Given the description of an element on the screen output the (x, y) to click on. 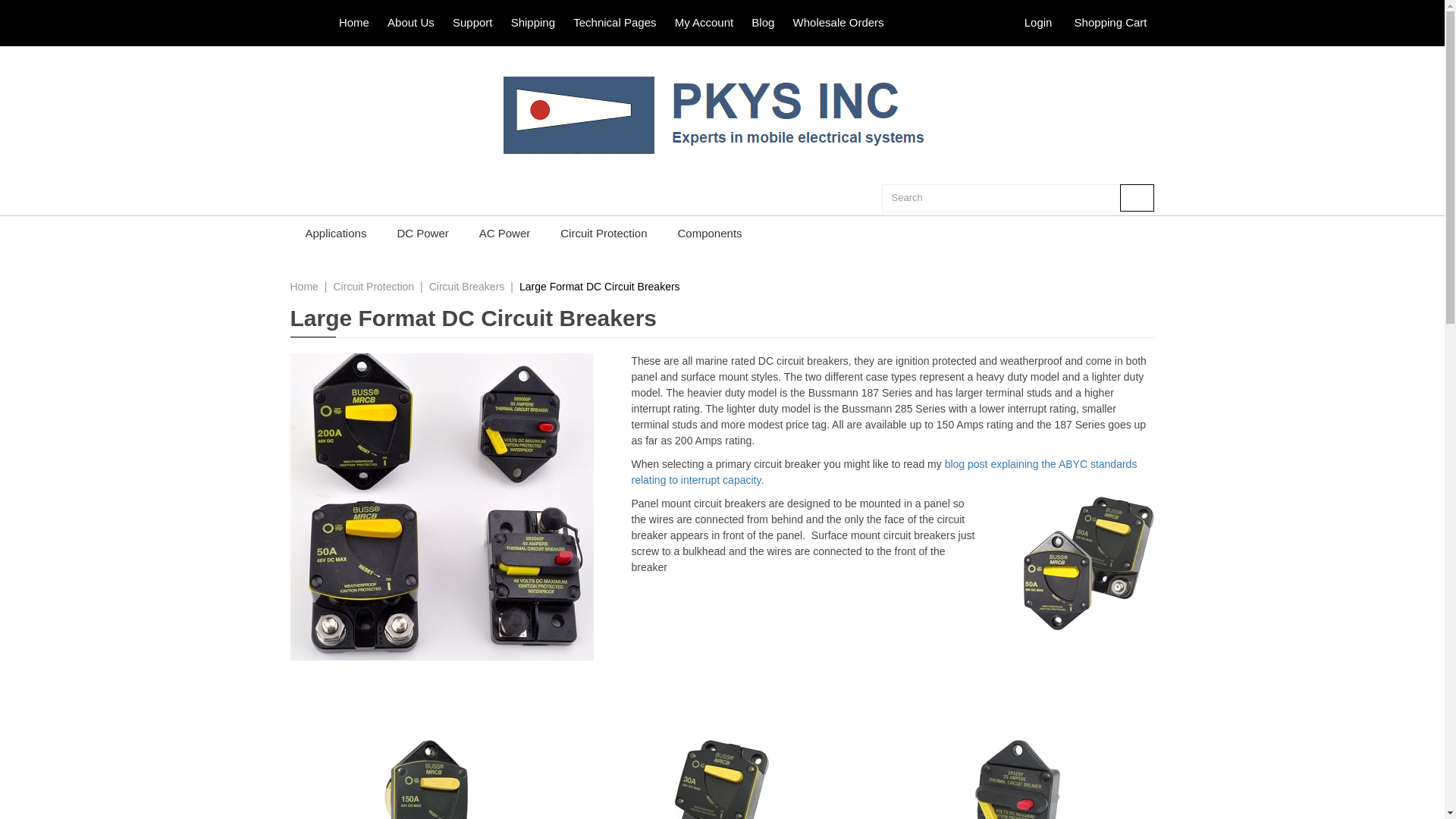
Support (472, 21)
Shipping (532, 21)
Wholesale Orders (838, 21)
Shopping Cart (1110, 21)
Applications (335, 232)
Blog (762, 21)
Technical Pages (614, 21)
home (721, 113)
Login (1038, 21)
My Account (704, 21)
